Given the description of an element on the screen output the (x, y) to click on. 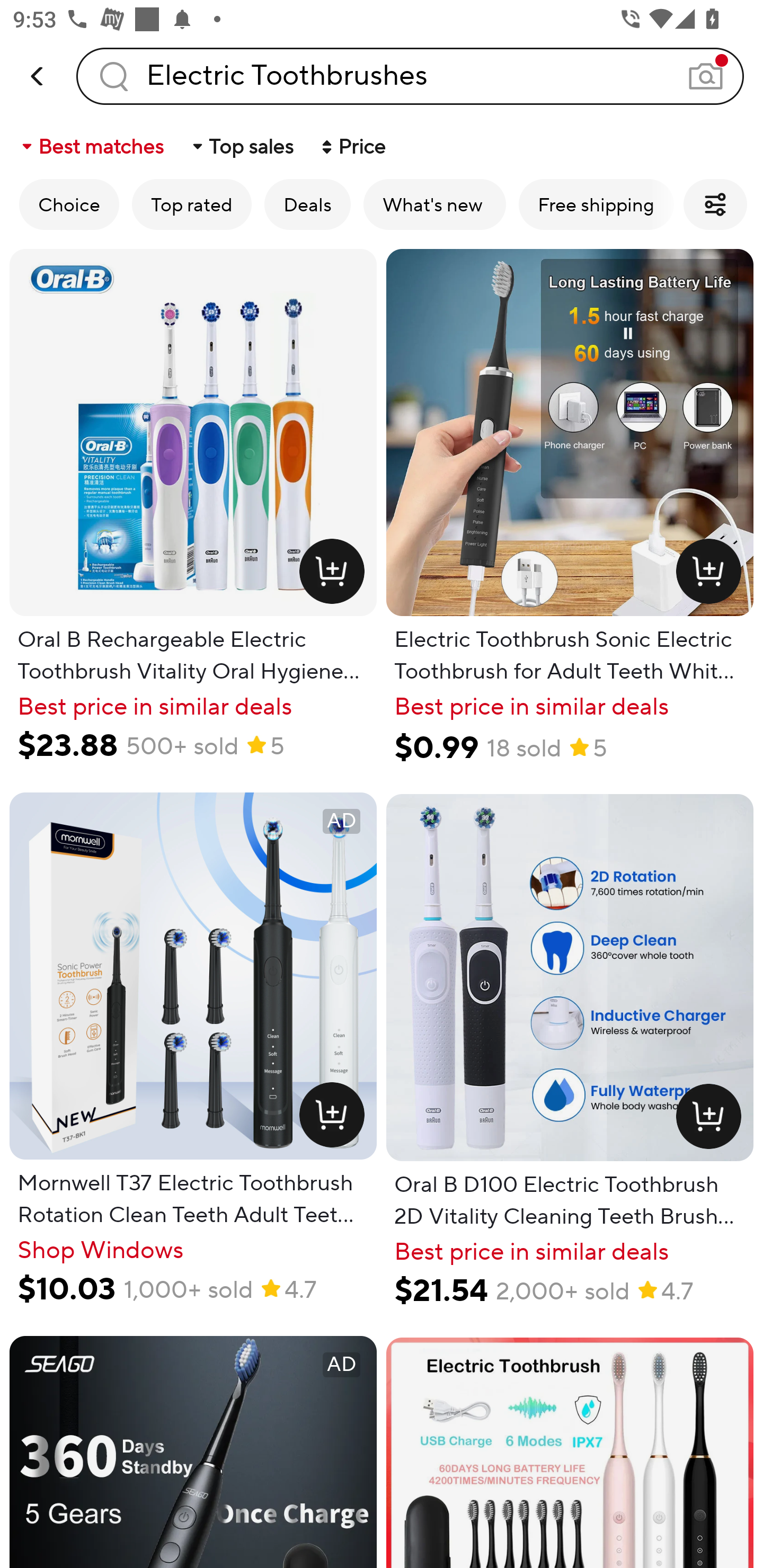
back (38, 75)
Electric Toothbrushes Search query (409, 76)
Electric Toothbrushes Search query (409, 76)
Best matches (91, 146)
Top sales (241, 146)
Price (352, 146)
Choice (69, 204)
Top rated (191, 204)
Deals (307, 204)
What's new  (434, 204)
Free shipping (595, 204)
